Given the description of an element on the screen output the (x, y) to click on. 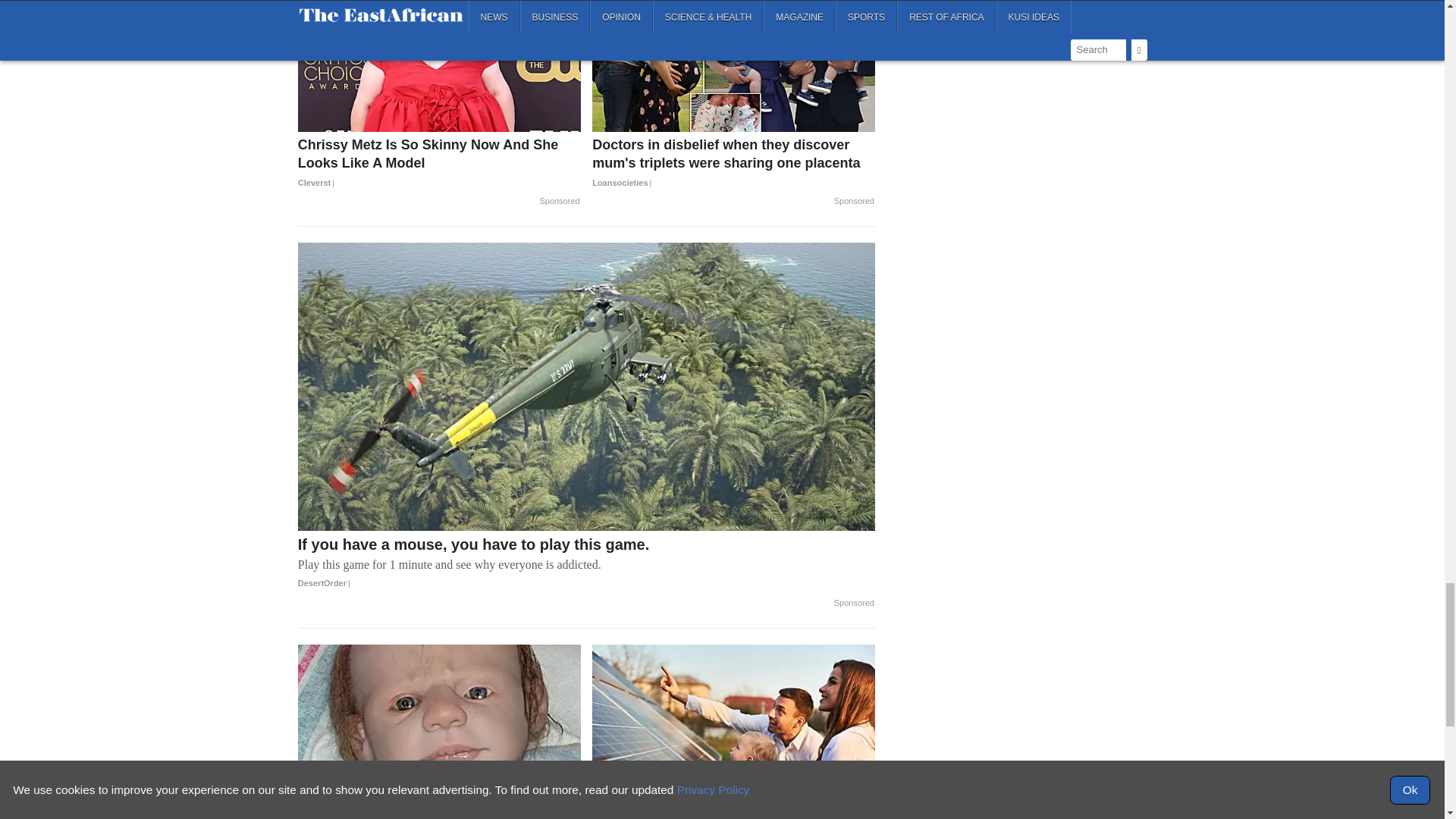
Chrissy Metz Is So Skinny Now And She Looks Like A Model (439, 163)
Chrissy Metz Is So Skinny Now And She Looks Like A Model (439, 65)
